Given the description of an element on the screen output the (x, y) to click on. 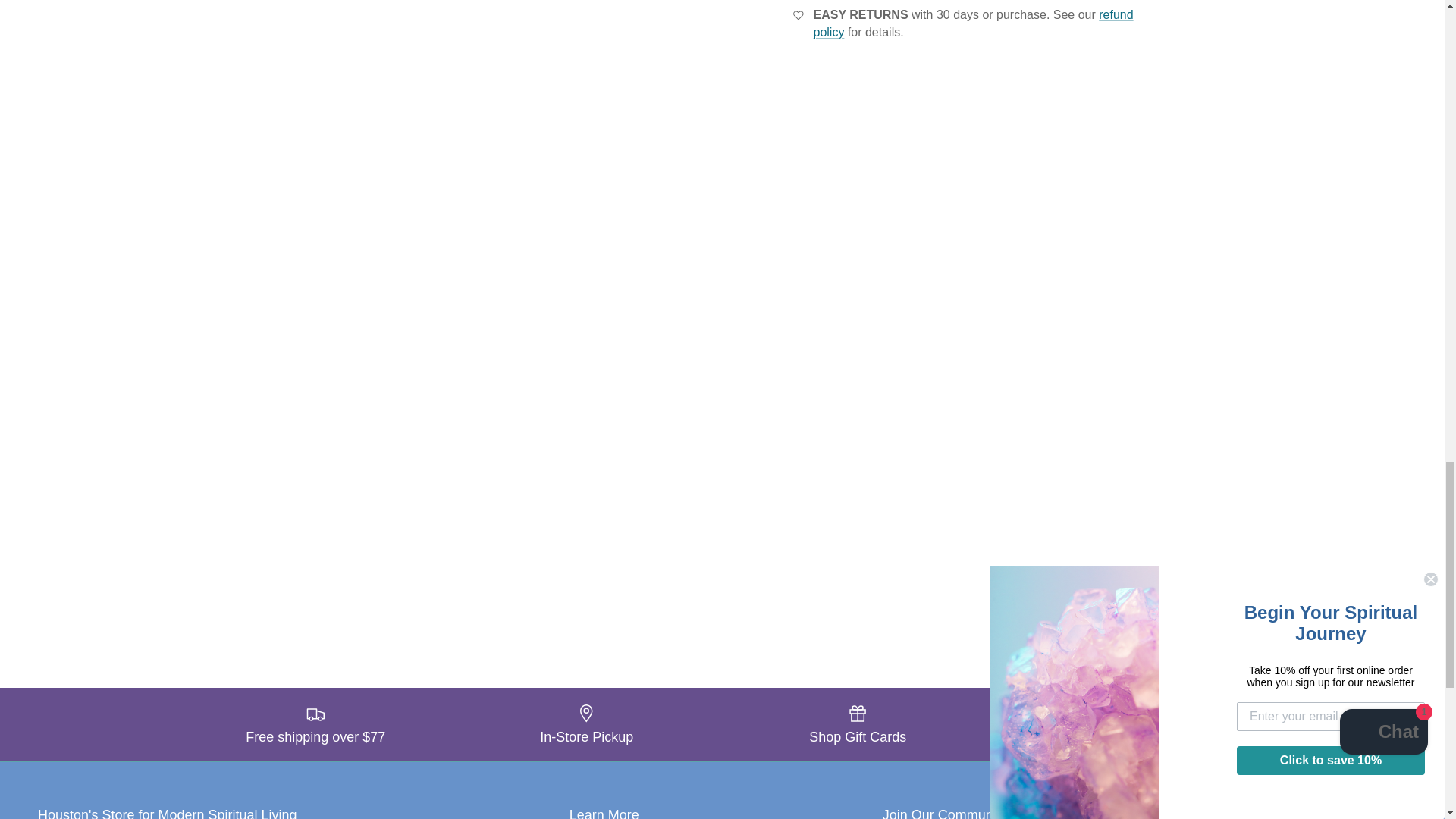
Refund Policy (972, 22)
